Given the description of an element on the screen output the (x, y) to click on. 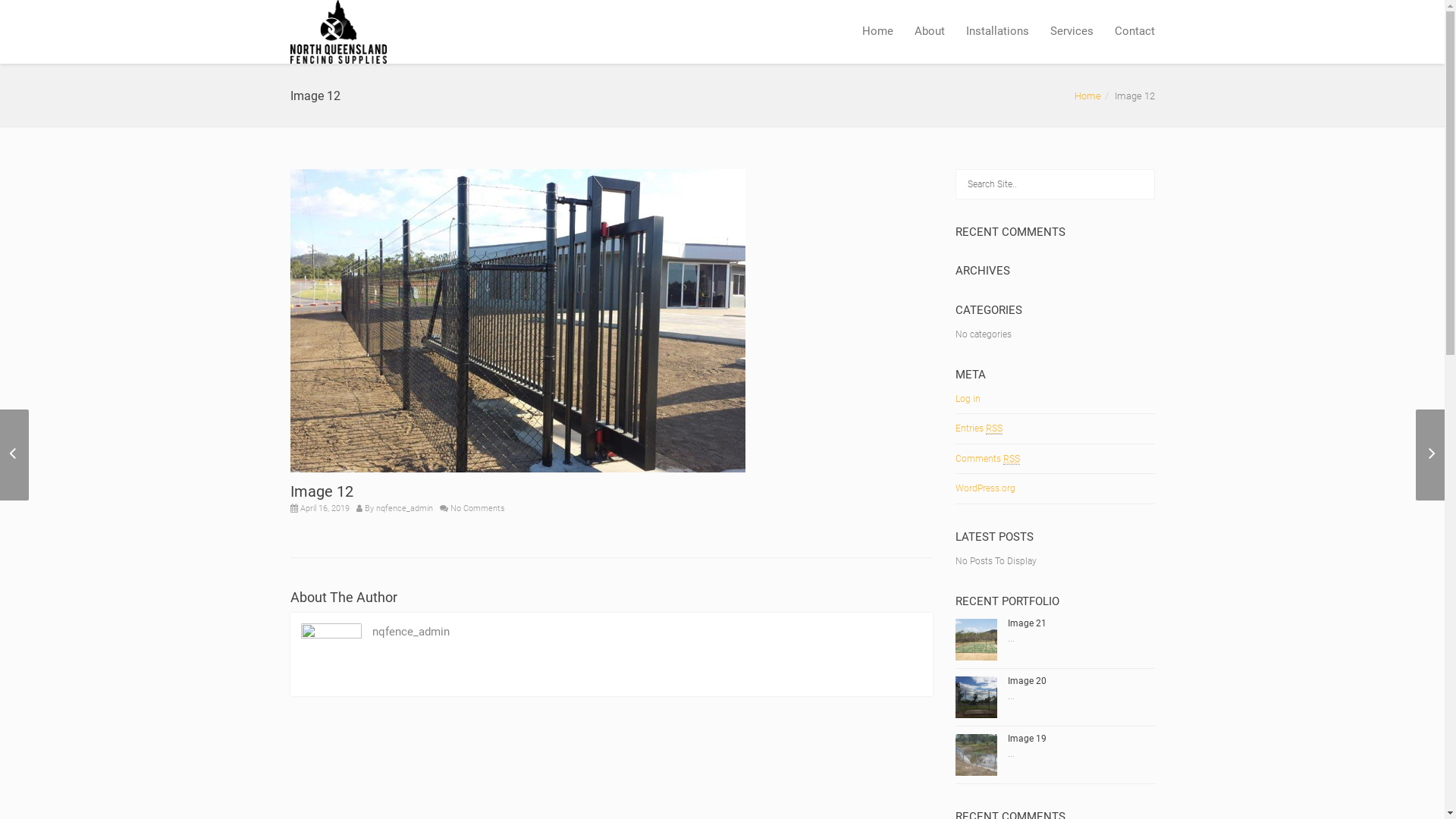
Log in Element type: text (967, 398)
nqfence_admin Element type: text (404, 508)
Home Element type: text (876, 31)
Image 19 Element type: text (1026, 738)
Services Element type: text (1070, 31)
Image 20 Element type: text (1026, 680)
Contact Element type: text (1129, 31)
Comments RSS Element type: text (987, 458)
Entries RSS Element type: text (978, 428)
Installations Element type: text (997, 31)
WordPress.org Element type: text (985, 488)
Home Element type: text (1086, 95)
About Element type: text (929, 31)
Image 21 Element type: text (1026, 623)
